Given the description of an element on the screen output the (x, y) to click on. 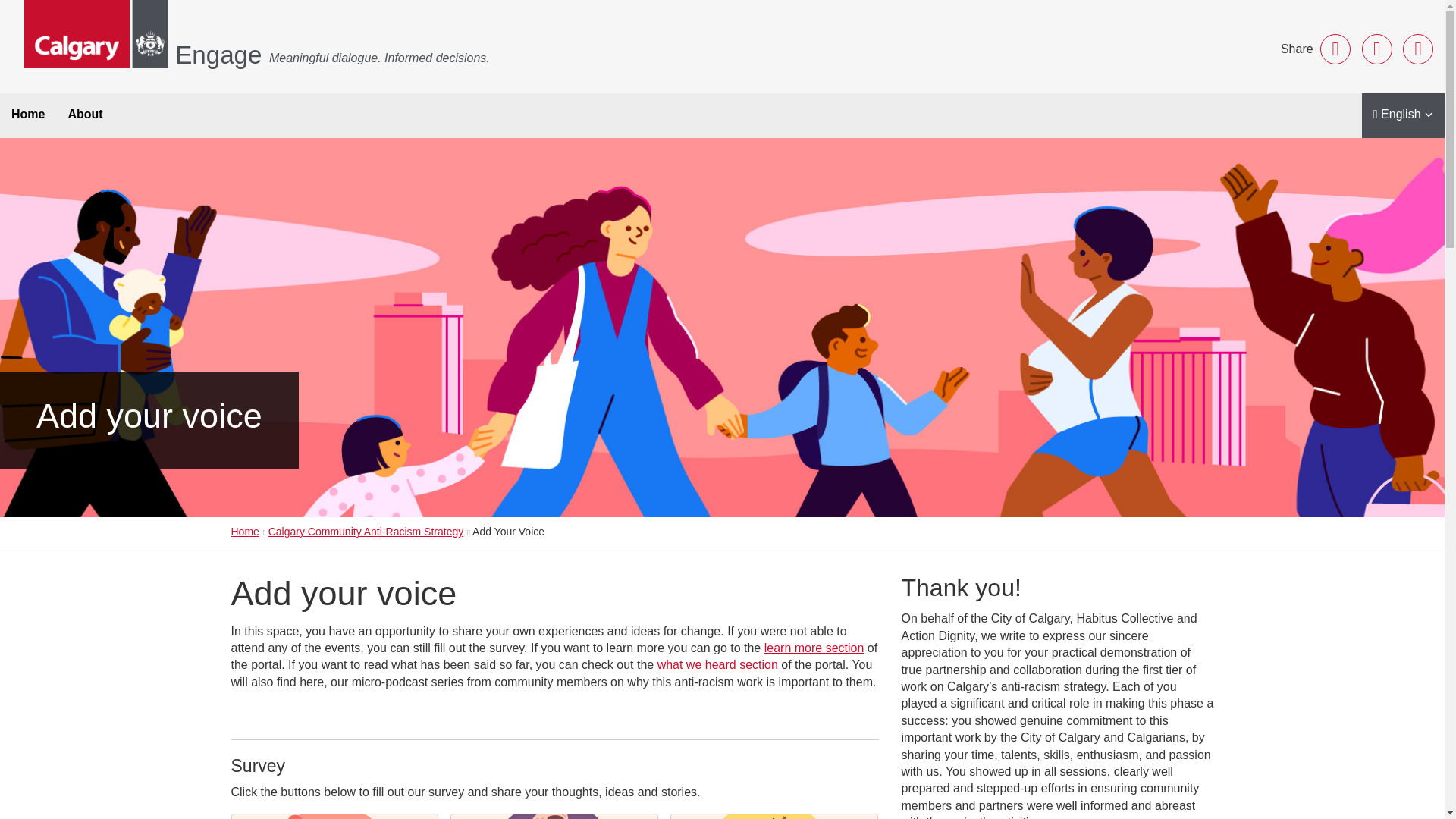
Add your feedback (334, 816)
Home (28, 115)
learn more section (814, 647)
LinkedIn (1417, 49)
Home (244, 531)
what we heard section (717, 664)
X (1376, 49)
Calgary Community Anti-Racism Strategy (365, 531)
X (1376, 49)
About (84, 115)
